Given the description of an element on the screen output the (x, y) to click on. 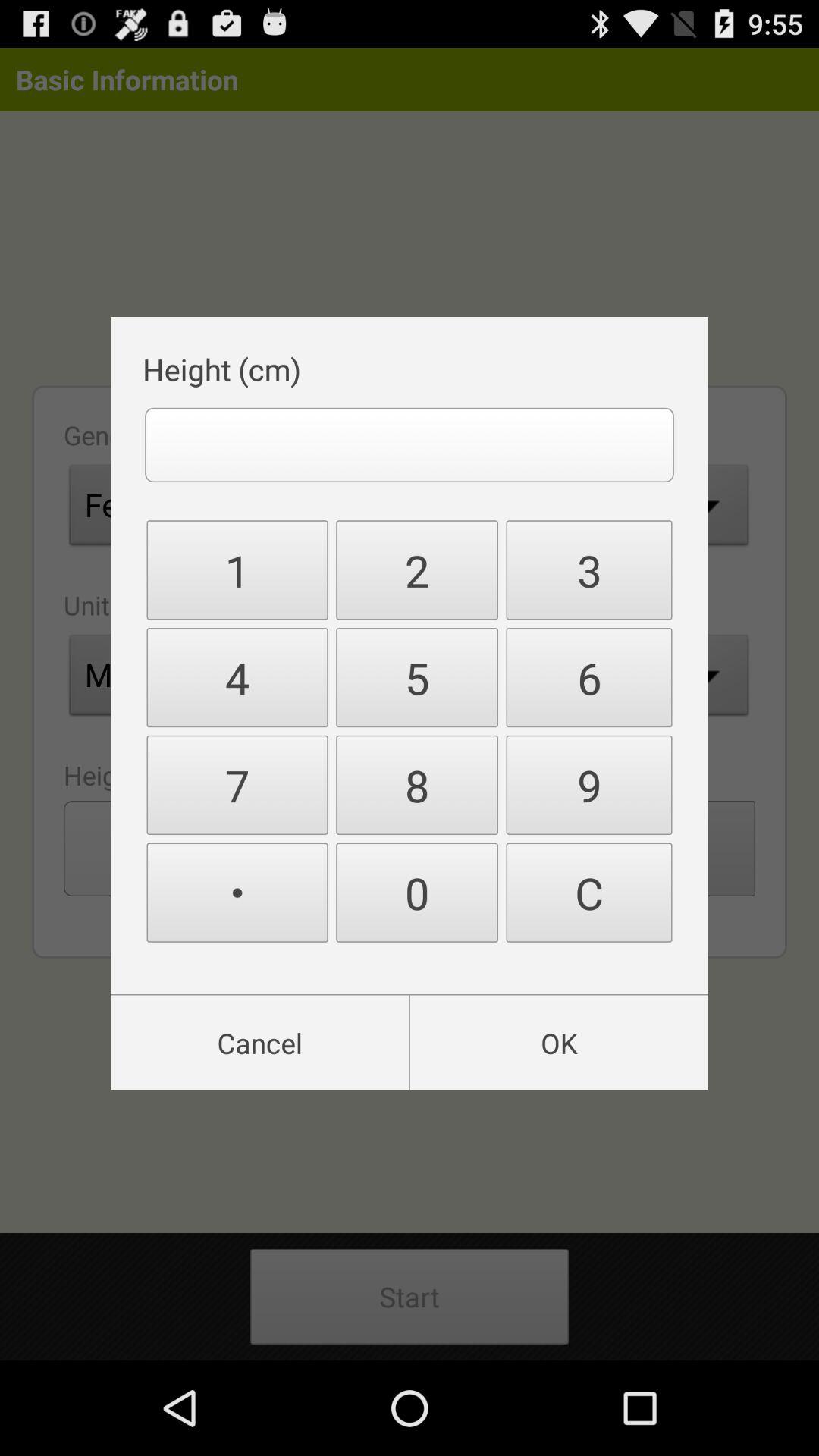
turn on button to the left of the 9 button (417, 892)
